Given the description of an element on the screen output the (x, y) to click on. 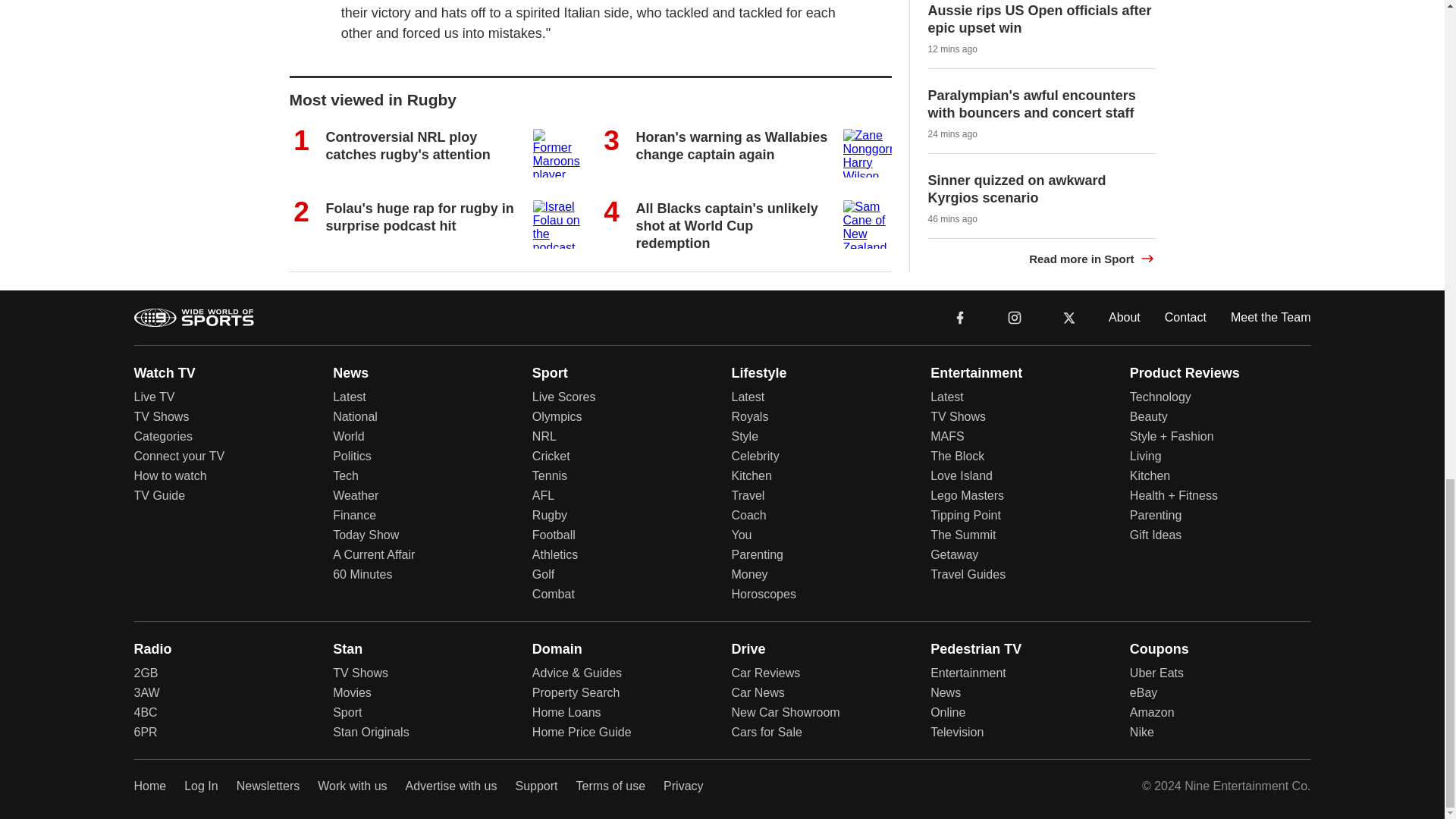
facebook (959, 316)
instagram (1013, 316)
x (1069, 316)
x (1069, 316)
instagram (1013, 316)
Horan's warning as Wallabies change captain again (730, 144)
facebook (960, 317)
x (1069, 317)
Controversial NRL ploy catches rugby's attention (408, 144)
instagram (1014, 317)
